Given the description of an element on the screen output the (x, y) to click on. 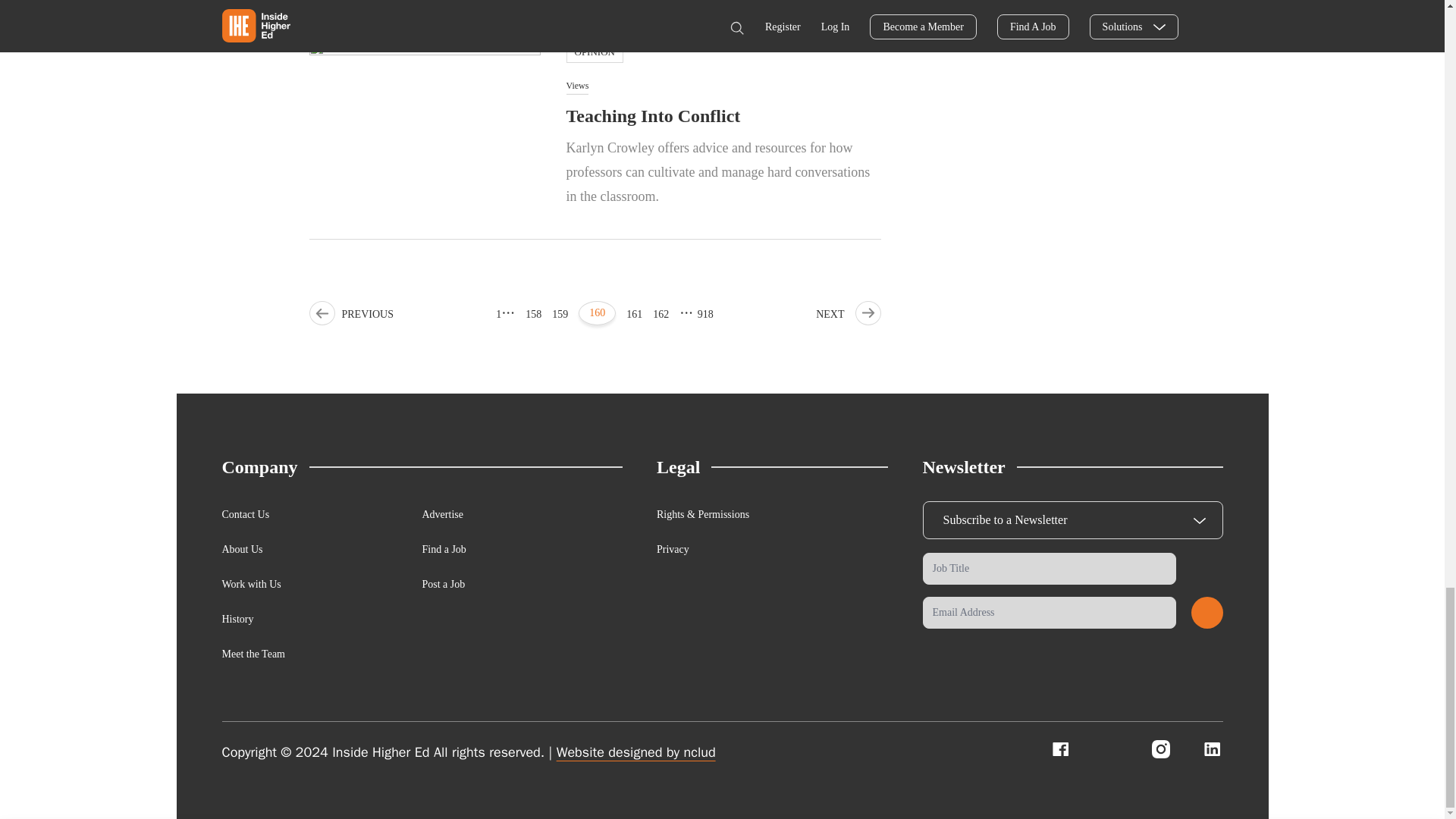
Submit (1207, 612)
Go to page 158 (533, 314)
Go to previous page (350, 314)
